Given the description of an element on the screen output the (x, y) to click on. 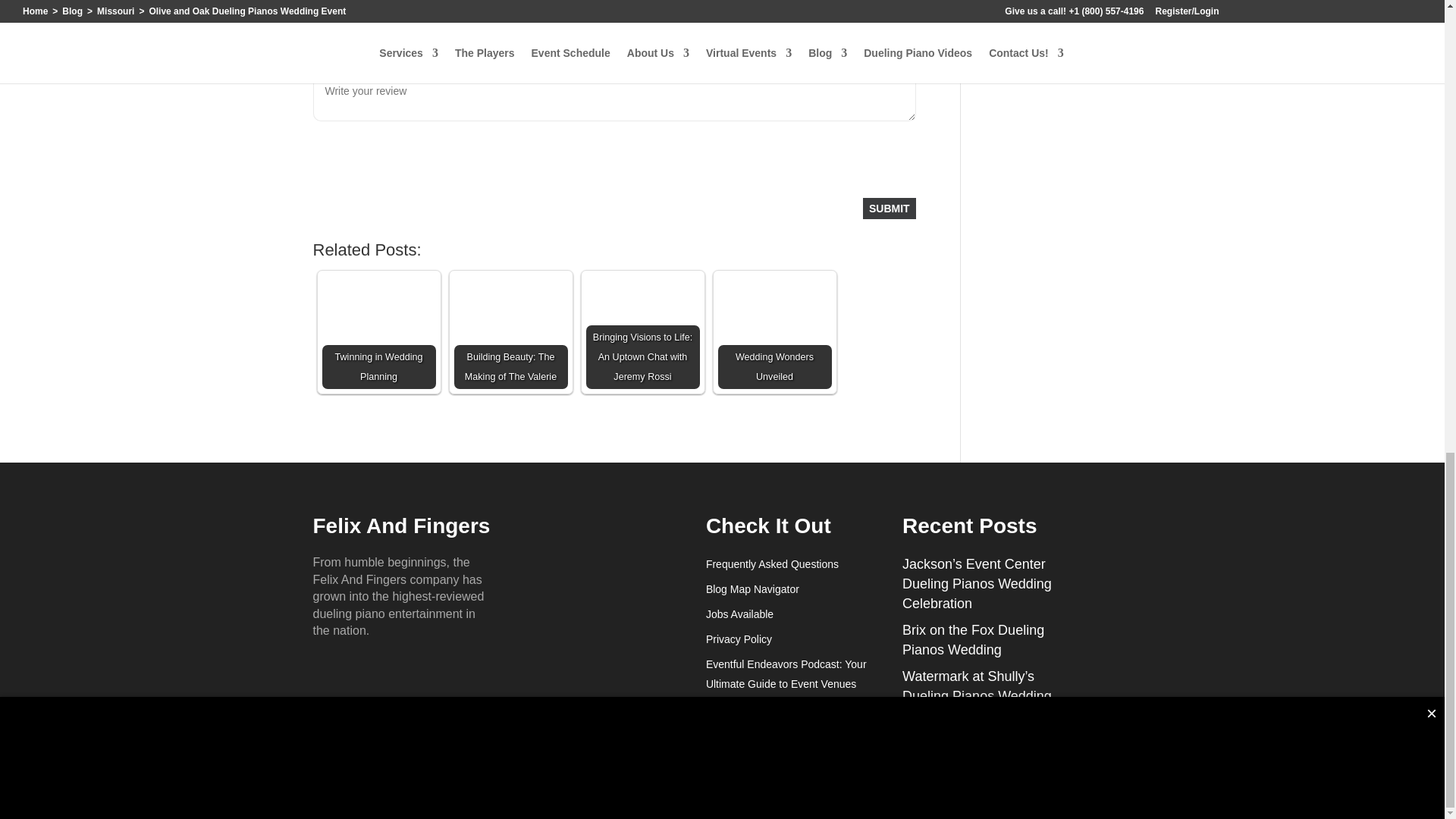
Brix on the Fox Dueling Pianos Wedding (972, 639)
Submit (889, 208)
Building Beauty: The Making of The Valerie (509, 332)
Twinning in Wedding Planning (378, 332)
Wedding Wonders Unveiled (774, 332)
Bringing Visions to Life: An Uptown Chat with Jeremy Rossi (641, 332)
